Given the description of an element on the screen output the (x, y) to click on. 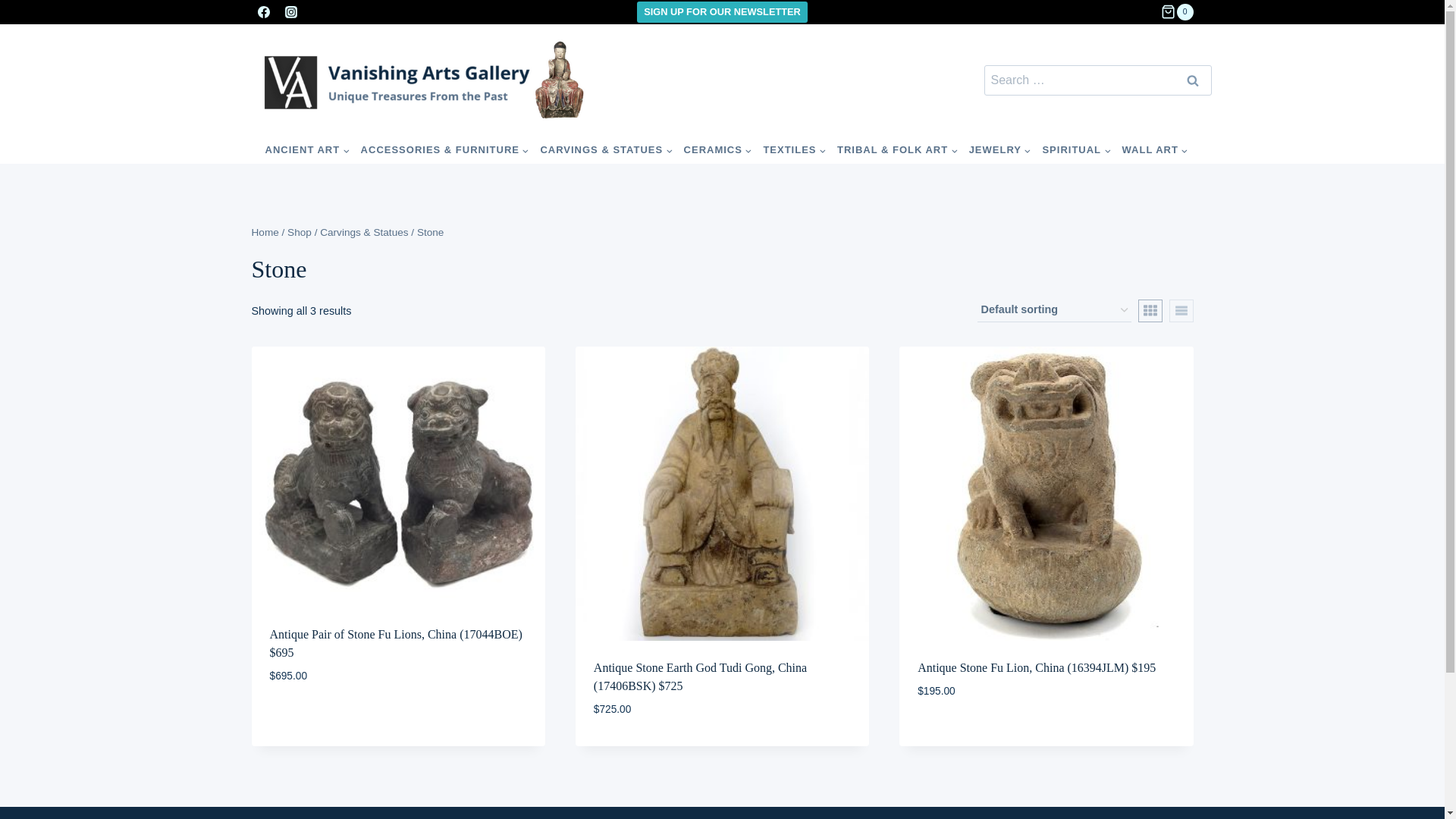
CERAMICS (717, 149)
List View (1181, 310)
Grid View (1149, 310)
0 (1176, 12)
SIGN UP FOR OUR NEWSLETTER (722, 11)
Search (1192, 80)
Search (1192, 80)
TEXTILES (794, 149)
Search (1192, 80)
ANCIENT ART (307, 149)
